Given the description of an element on the screen output the (x, y) to click on. 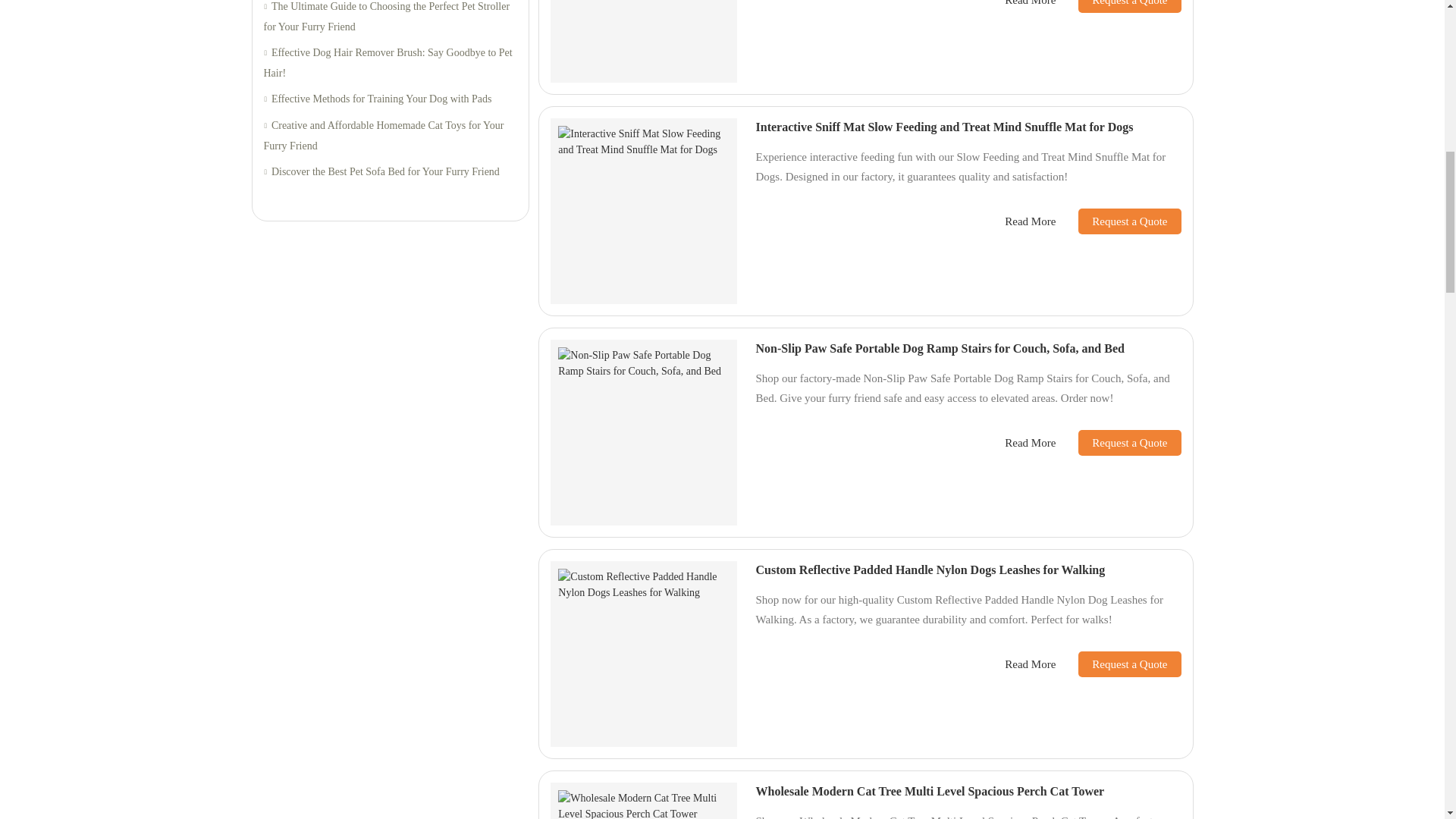
Request a Quote (1117, 6)
Effective Methods for Training Your Dog with Pads (389, 99)
Discover the Best Pet Sofa Bed for Your Furry Friend (389, 172)
Effective Dog Hair Remover Brush: Say Goodbye to Pet Hair! (389, 63)
Read More (1029, 4)
